Given the description of an element on the screen output the (x, y) to click on. 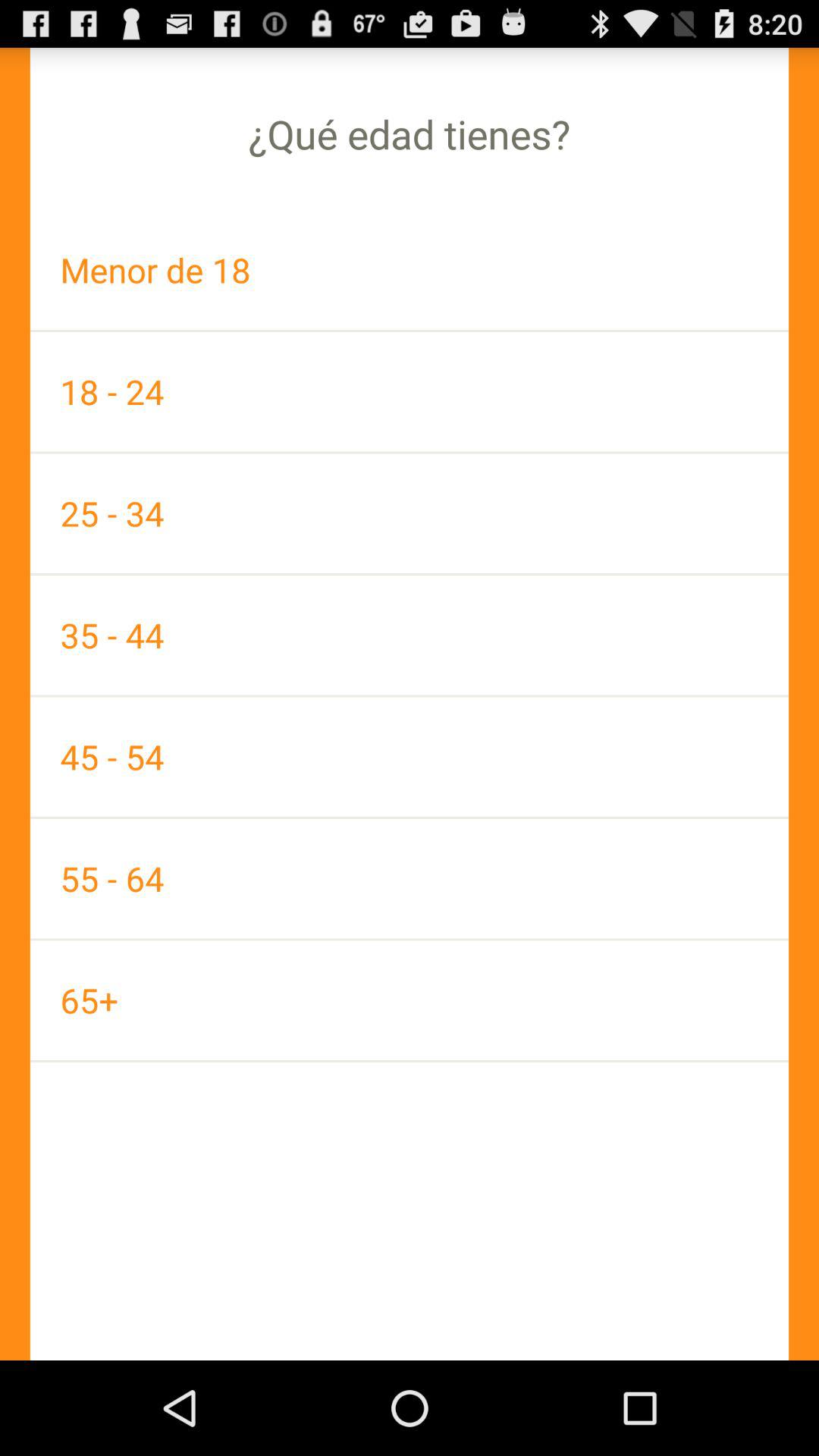
click app below menor de 18 app (409, 391)
